Given the description of an element on the screen output the (x, y) to click on. 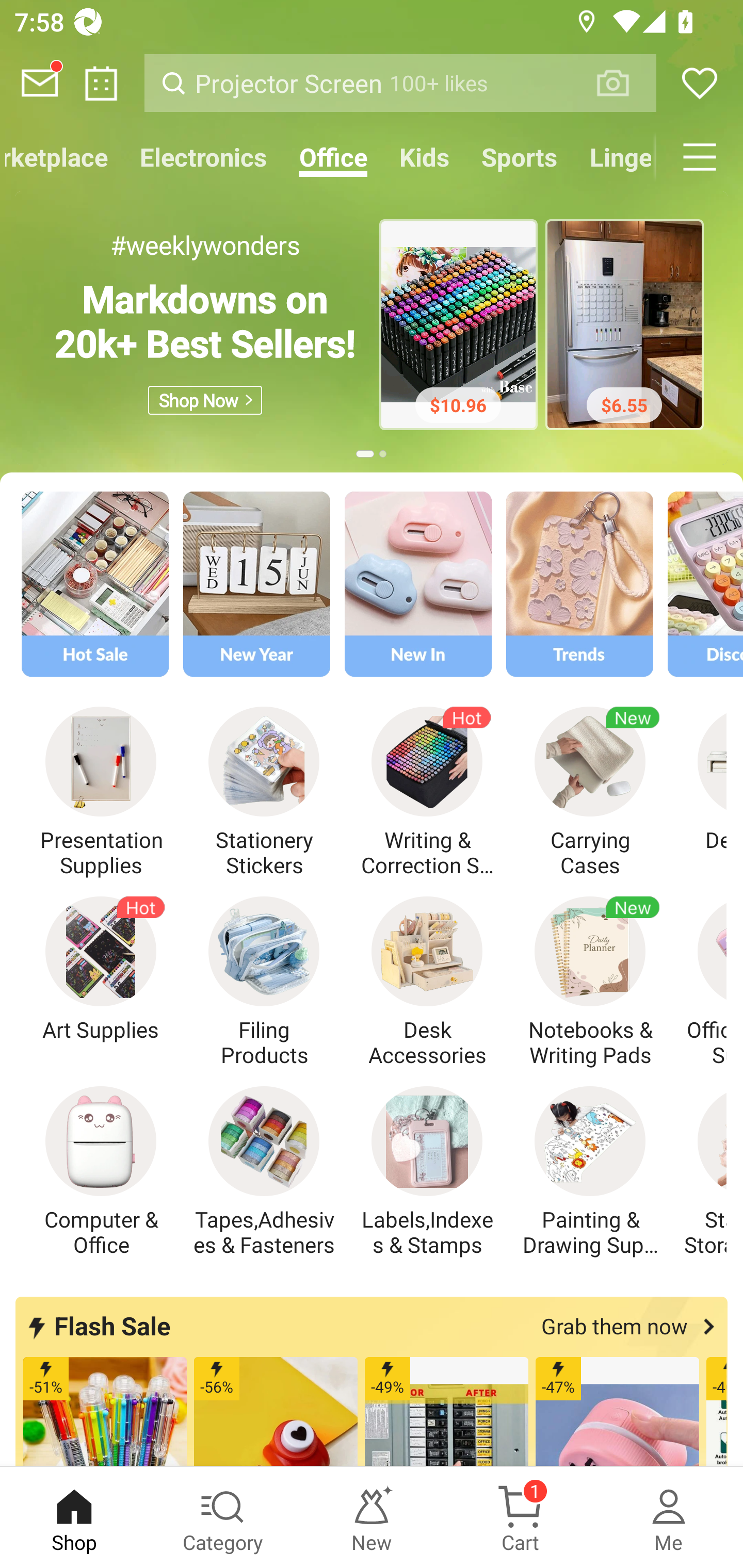
Wishlist (699, 82)
VISUAL SEARCH (623, 82)
Marketplace (62, 156)
Electronics (203, 156)
Office (333, 156)
Kids (424, 156)
Sports (519, 156)
Lingerie & Sleep (614, 156)
Category (222, 1517)
New (371, 1517)
Cart 1 Cart (519, 1517)
Me (668, 1517)
